Given the description of an element on the screen output the (x, y) to click on. 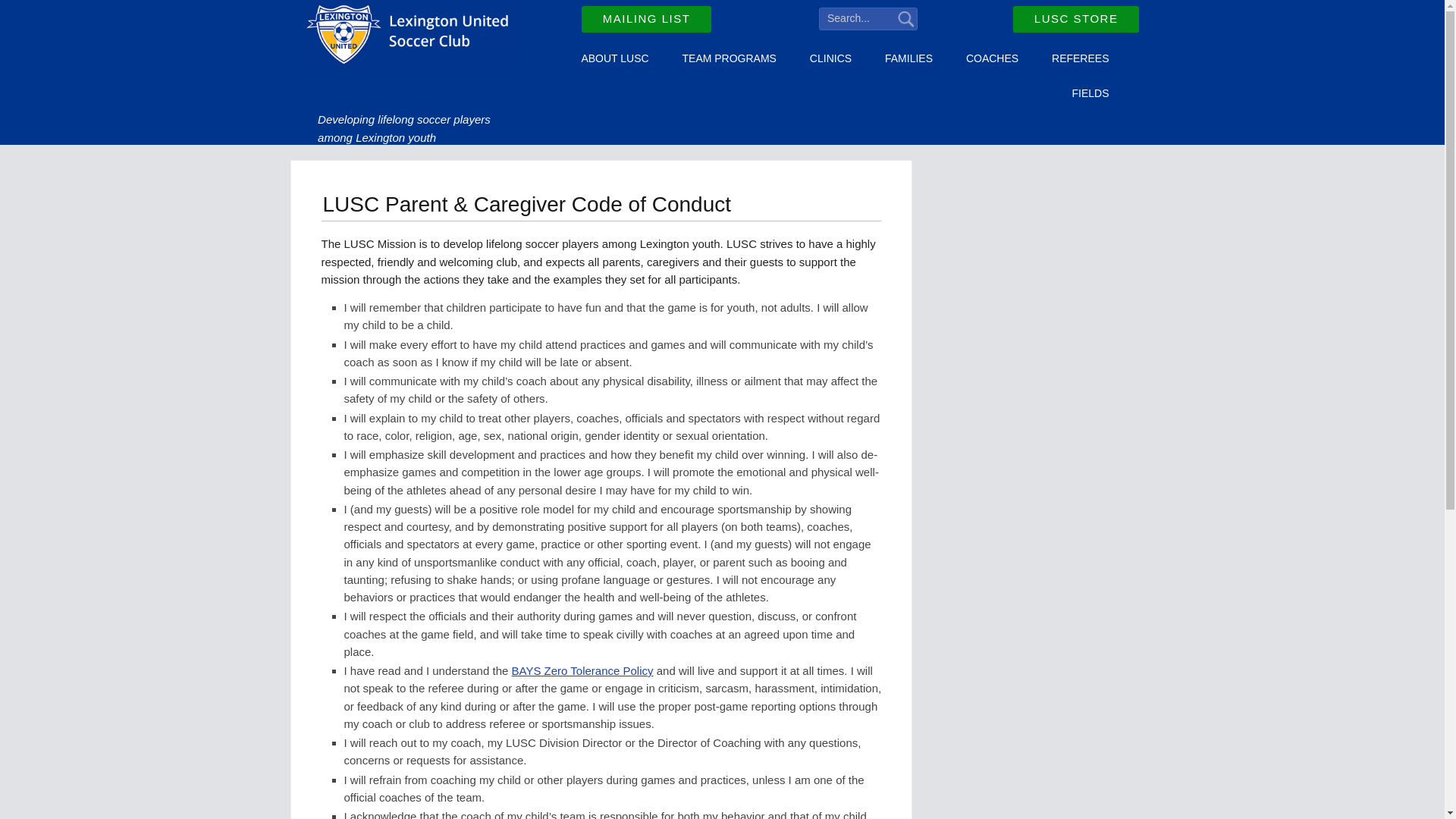
FAMILIES (908, 58)
Lexington United Soccer Club (408, 38)
CLINICS (830, 58)
MAILING LIST (645, 18)
TEAM PROGRAMS (729, 58)
LUSC STORE (1076, 18)
ABOUT LUSC (614, 58)
COACHES (991, 58)
